Given the description of an element on the screen output the (x, y) to click on. 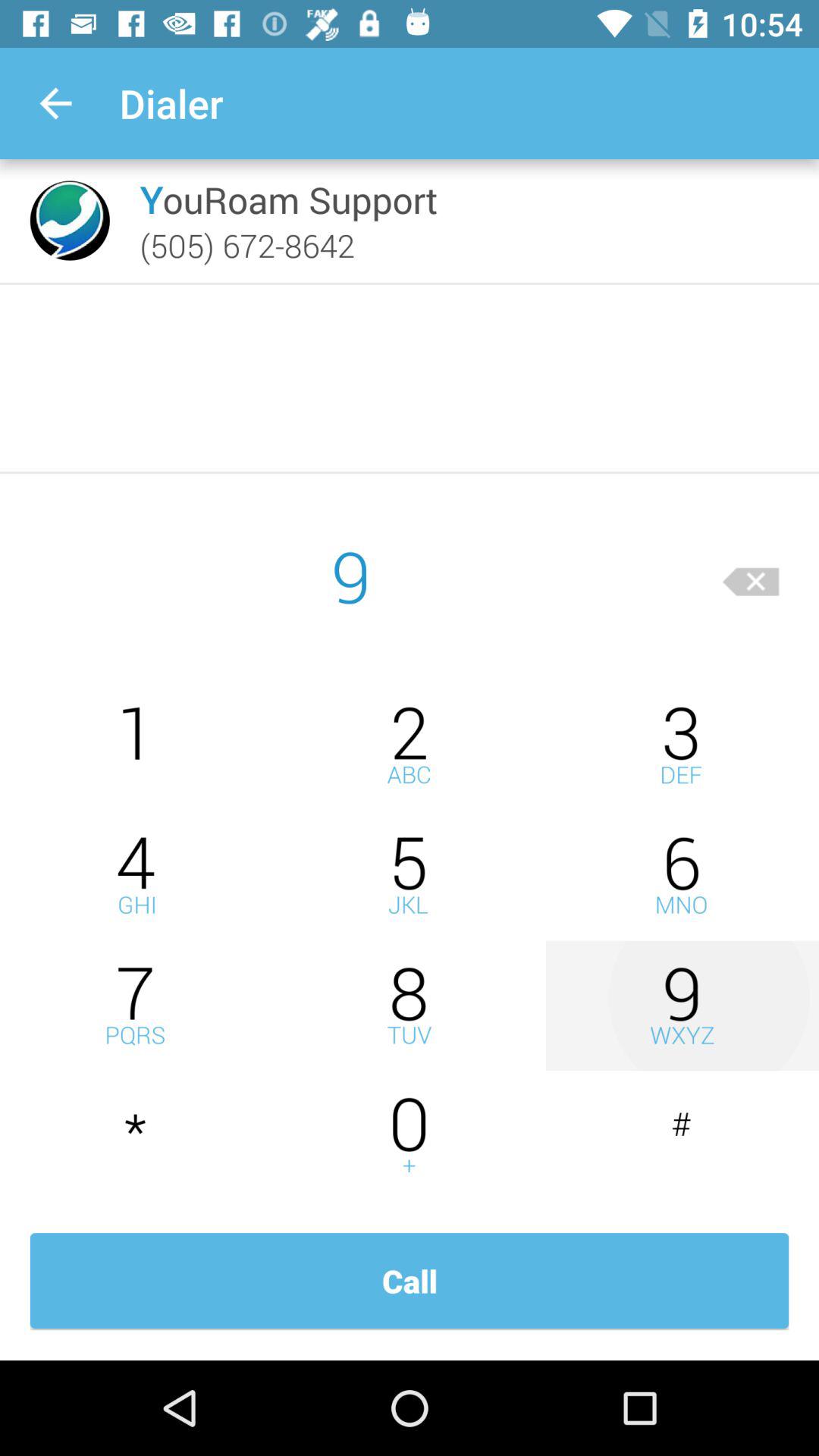
dial 2 (409, 745)
